Given the description of an element on the screen output the (x, y) to click on. 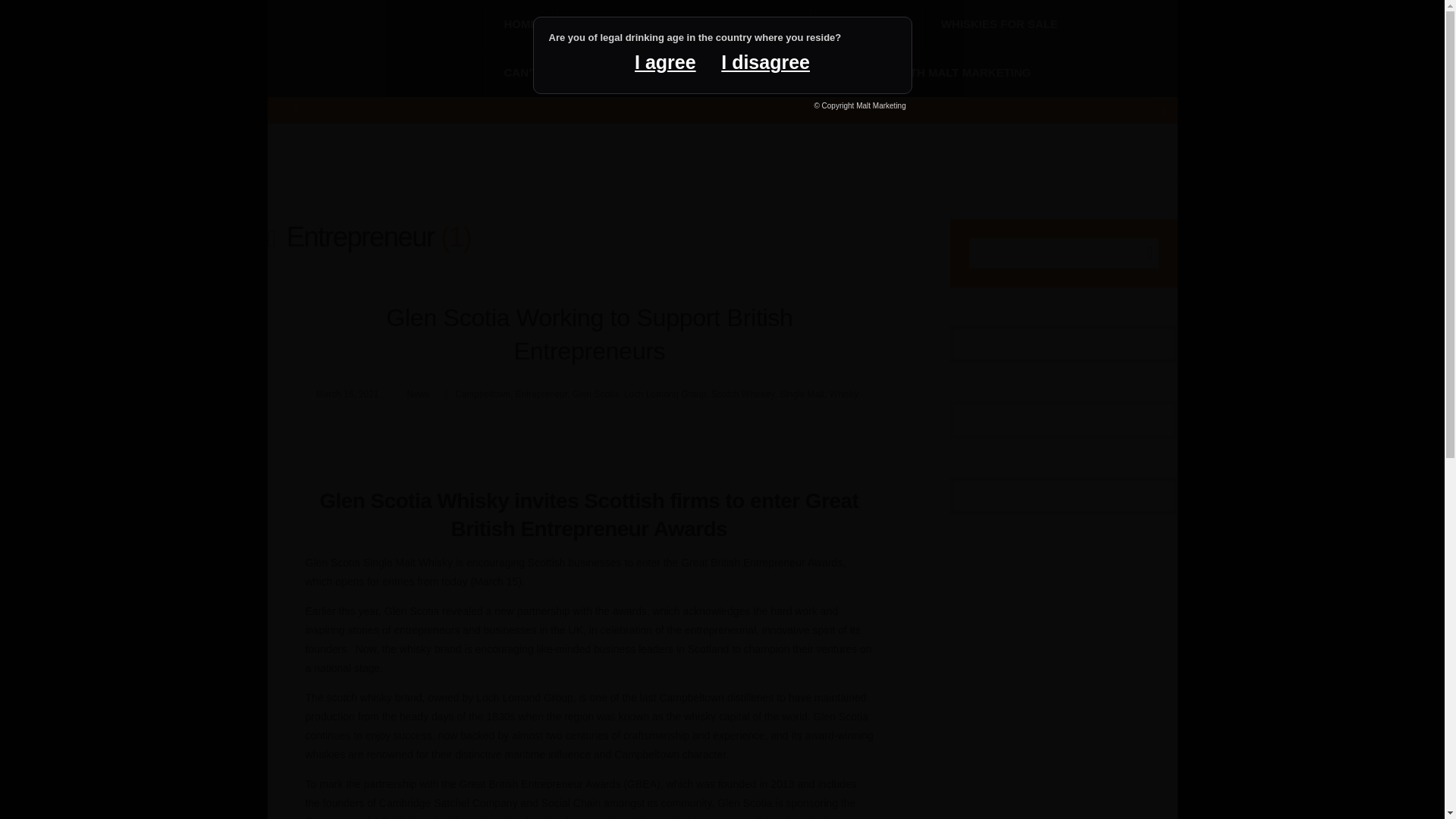
Search (1142, 252)
ABOUT US (865, 24)
Scotch Whiskey (742, 394)
Whisky (844, 394)
Glen Scotia (595, 394)
TOURS (762, 24)
Campbeltown (473, 394)
Glen Scotia Working to Support British Entrepreneurs (588, 333)
I disagree (765, 62)
WHISKIES FOR SALE (999, 24)
